Given the description of an element on the screen output the (x, y) to click on. 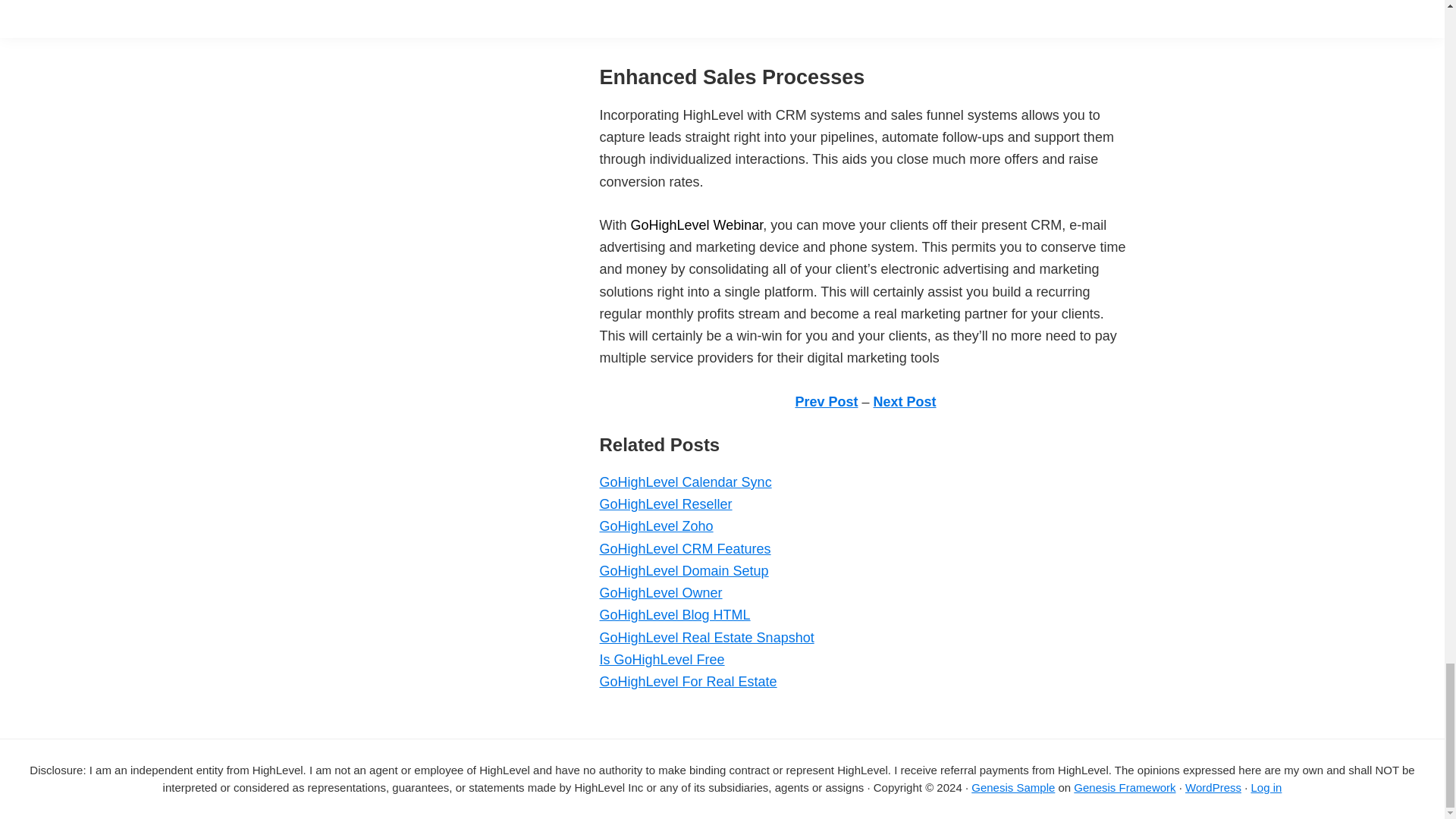
GoHighLevel Reseller (665, 503)
GoHighLevel Blog HTML (673, 614)
Prev Post (825, 401)
Is GoHighLevel Free (660, 659)
GoHighLevel Reseller (665, 503)
GoHighLevel Real Estate Snapshot (705, 637)
GoHighLevel Domain Setup (683, 570)
GoHighLevel Zoho (655, 525)
WordPress (1213, 787)
Genesis Sample (1012, 787)
Genesis Framework (1124, 787)
GoHighLevel CRM Features (684, 548)
GoHighLevel For Real Estate (687, 681)
GoHighLevel Calendar Sync (684, 482)
GoHighLevel CRM Features (684, 548)
